Given the description of an element on the screen output the (x, y) to click on. 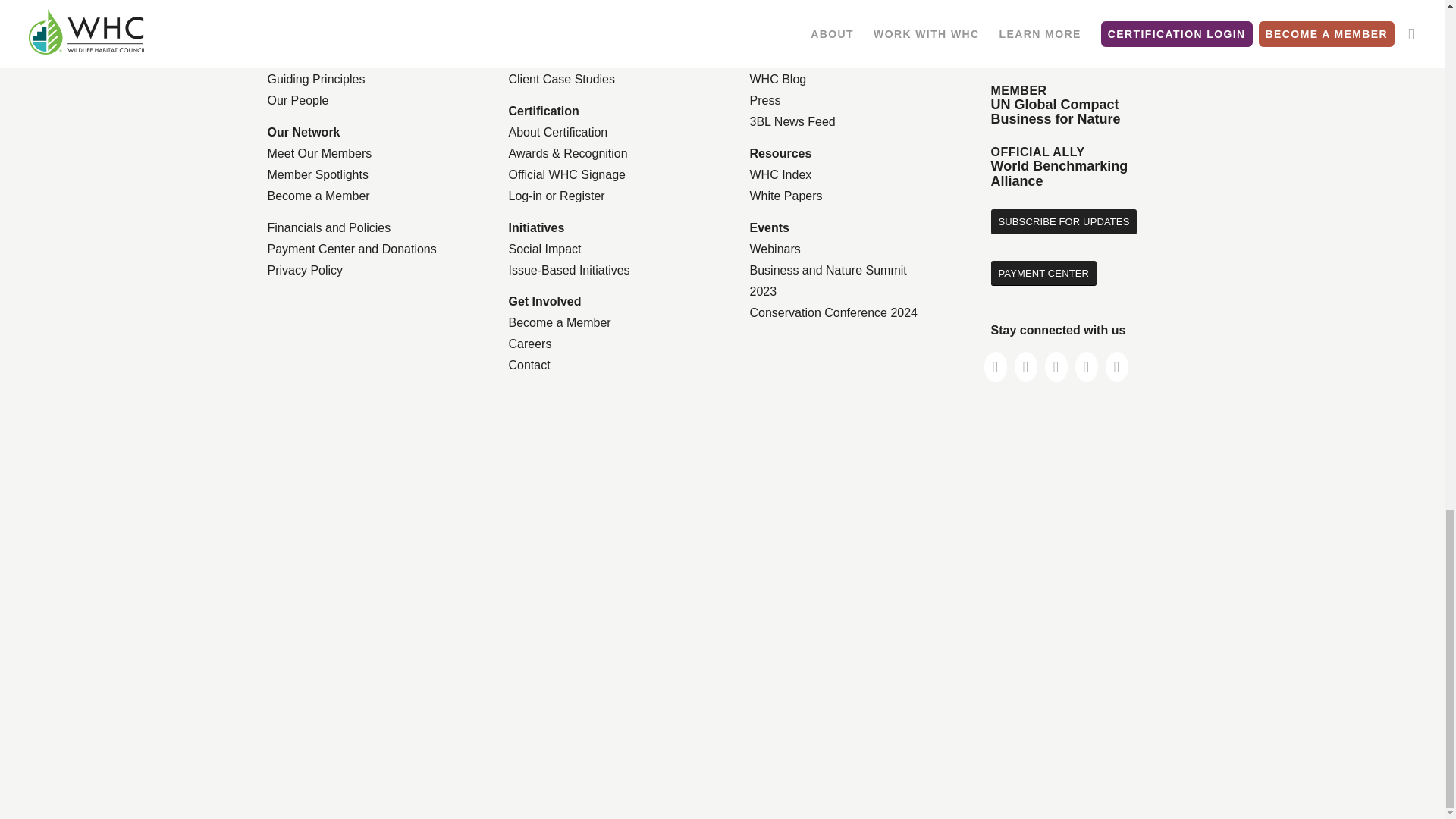
whc-logo-color (1055, 28)
